Given the description of an element on the screen output the (x, y) to click on. 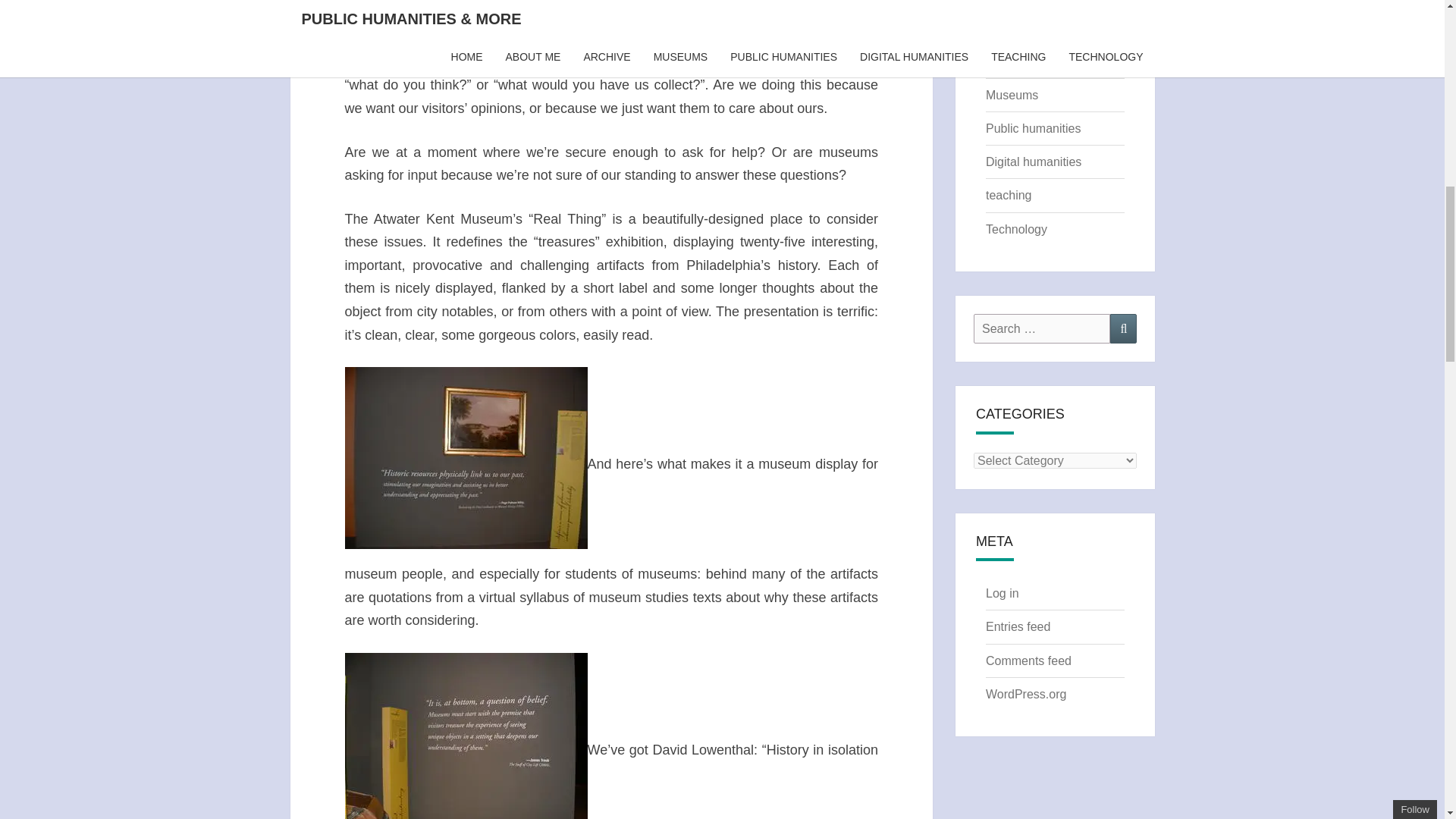
Public humanities (1032, 128)
Archive (1005, 61)
Search for: (1041, 328)
Museums (1011, 94)
Digital humanities (1033, 161)
About Me (1010, 27)
Sign up! (1361, 87)
